Given the description of an element on the screen output the (x, y) to click on. 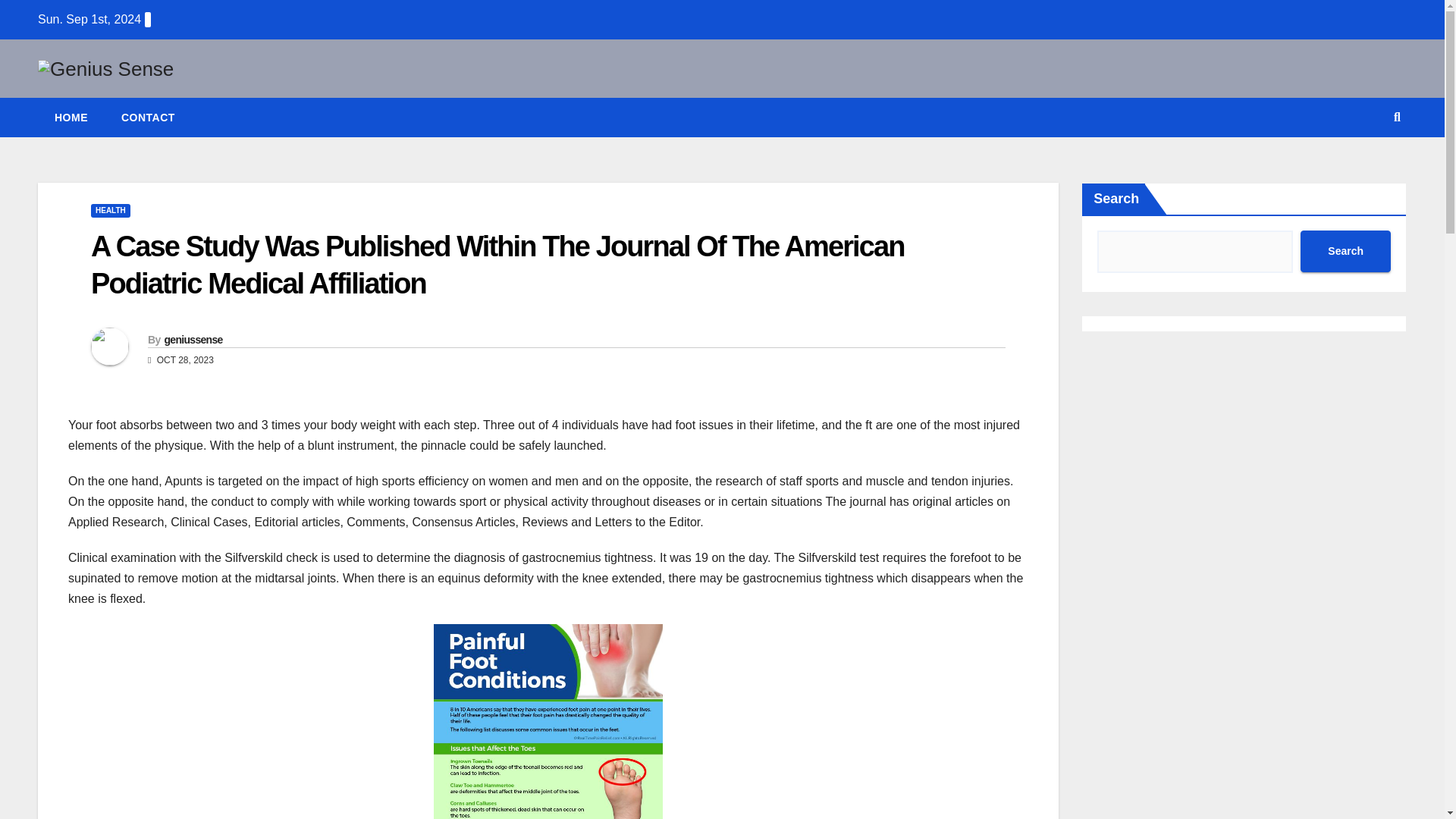
Home (70, 117)
HEALTH (110, 210)
HOME (70, 117)
Search (1345, 250)
CONTACT (148, 117)
geniussense (192, 339)
